Given the description of an element on the screen output the (x, y) to click on. 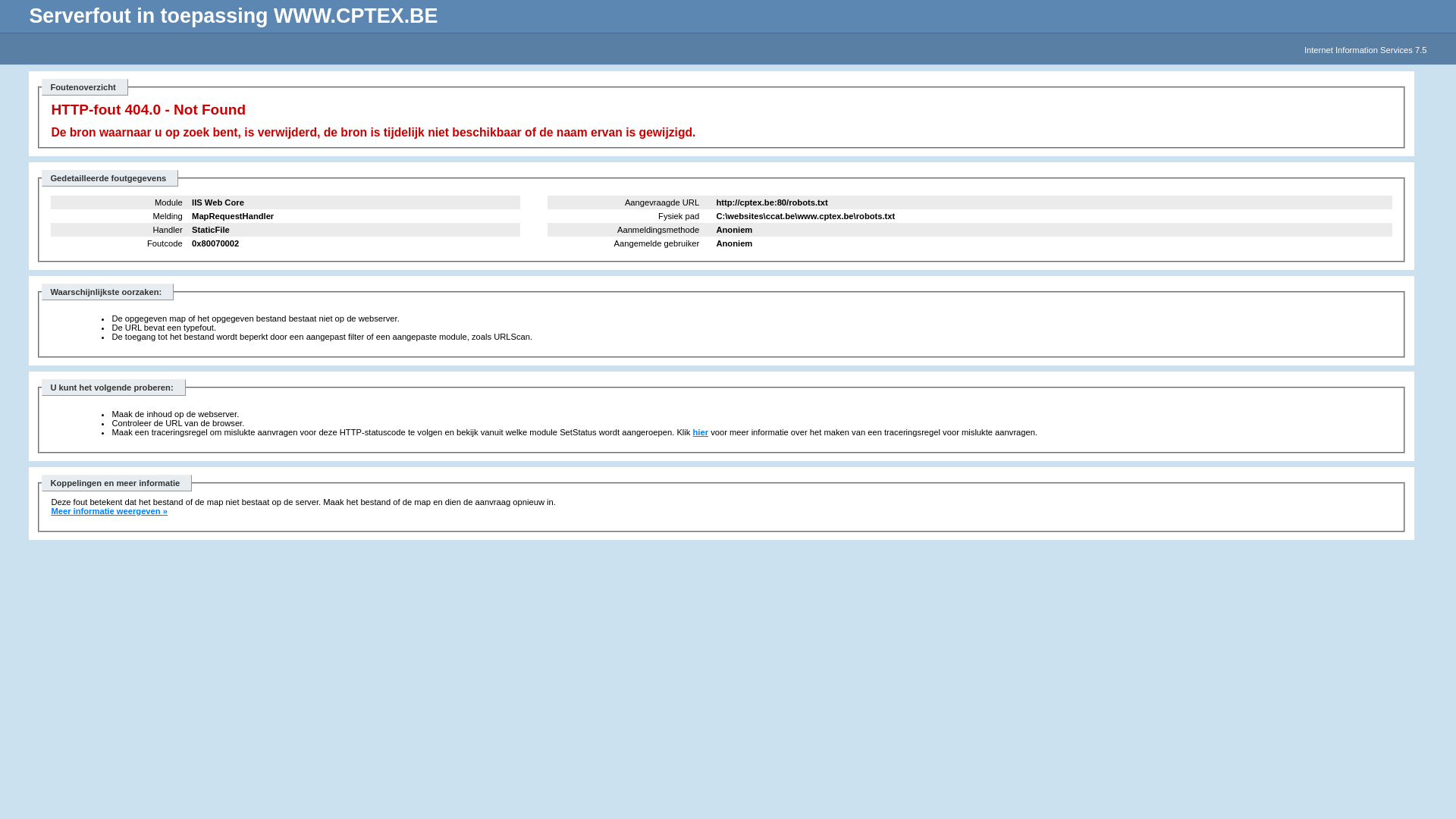
hier Element type: text (701, 431)
